Given the description of an element on the screen output the (x, y) to click on. 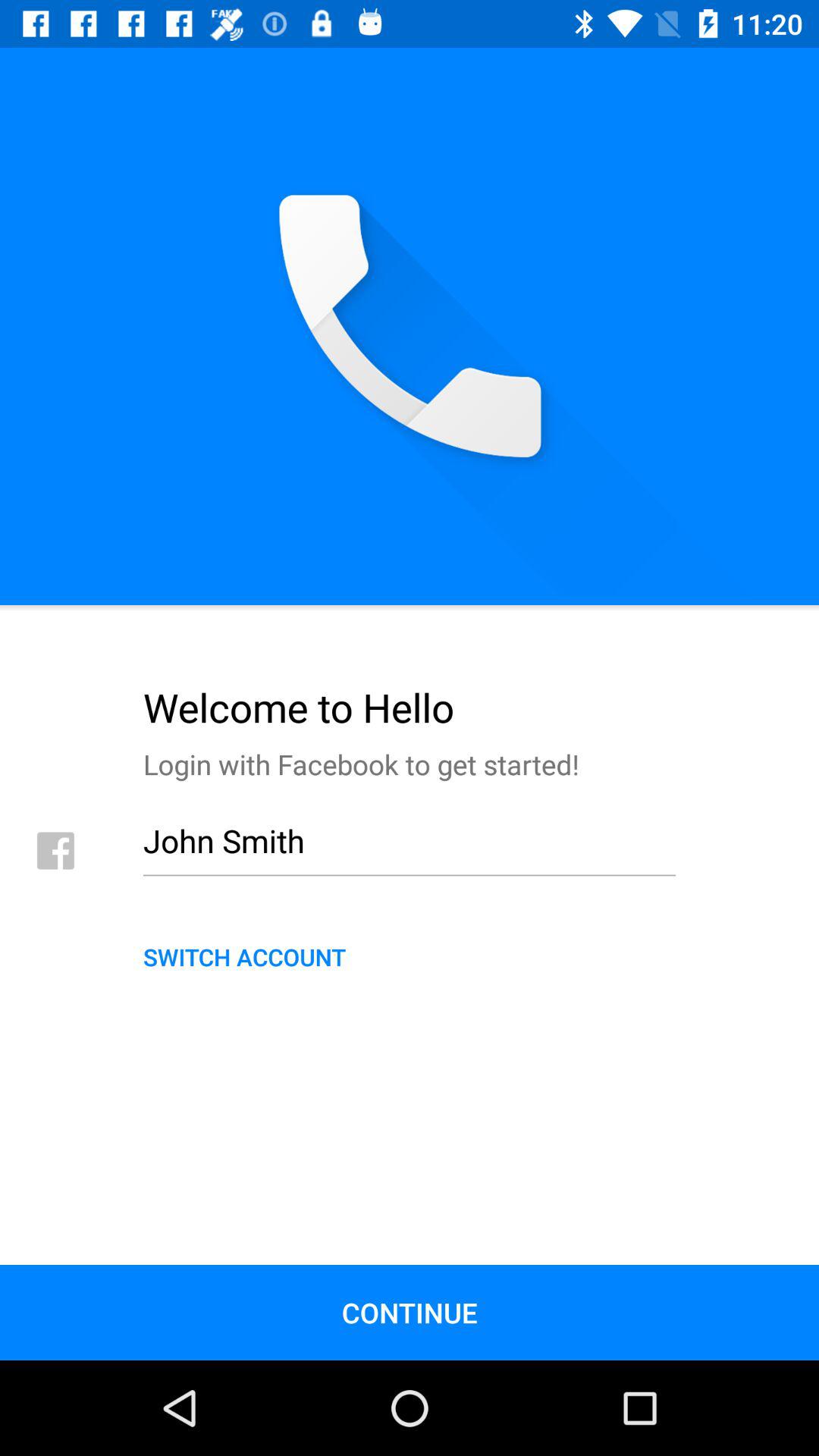
tap item below the switch account (409, 1312)
